Given the description of an element on the screen output the (x, y) to click on. 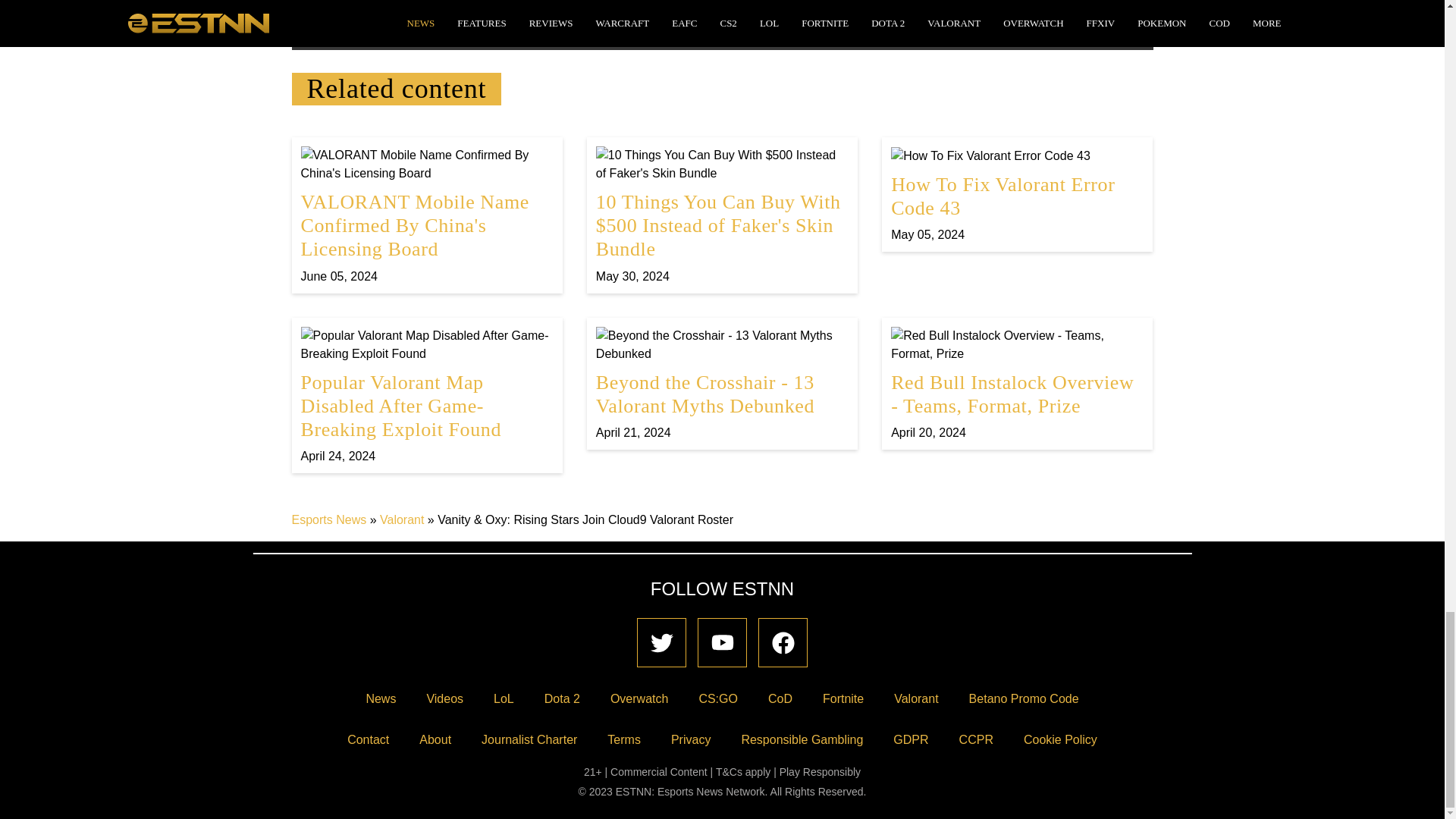
VALORANT Mobile Name Confirmed By China's Licensing Board (426, 215)
How To Fix Valorant Error Code 43 (1016, 194)
Beyond the Crosshair - 13 Valorant Myths Debunked (721, 383)
Red Bull Instalock Overview - Teams, Format, Prize (1016, 383)
